Given the description of an element on the screen output the (x, y) to click on. 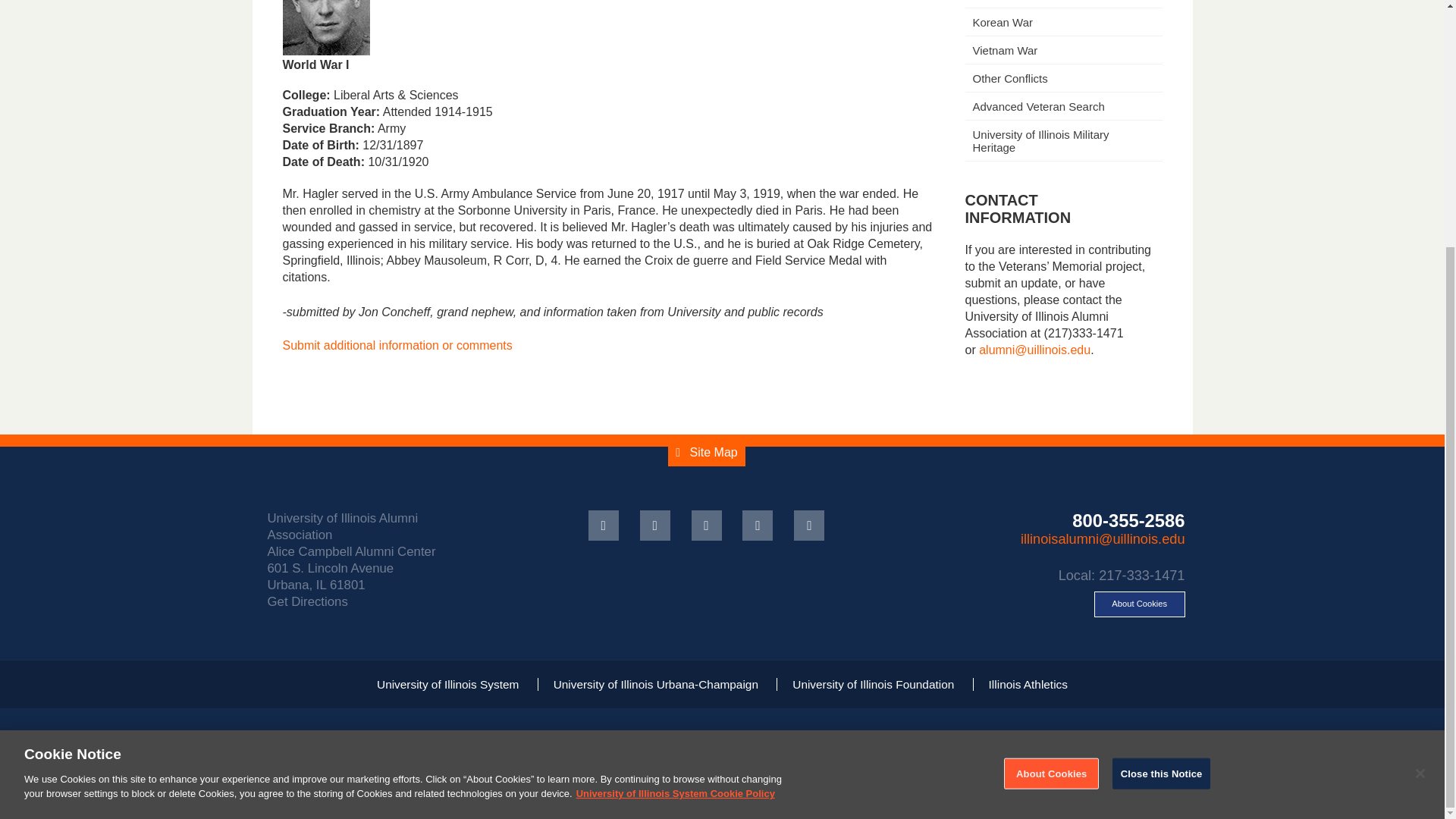
Twitter (654, 525)
Flickr (757, 525)
Facebook (603, 525)
Linkedin (706, 525)
Instagram (808, 525)
